Given the description of an element on the screen output the (x, y) to click on. 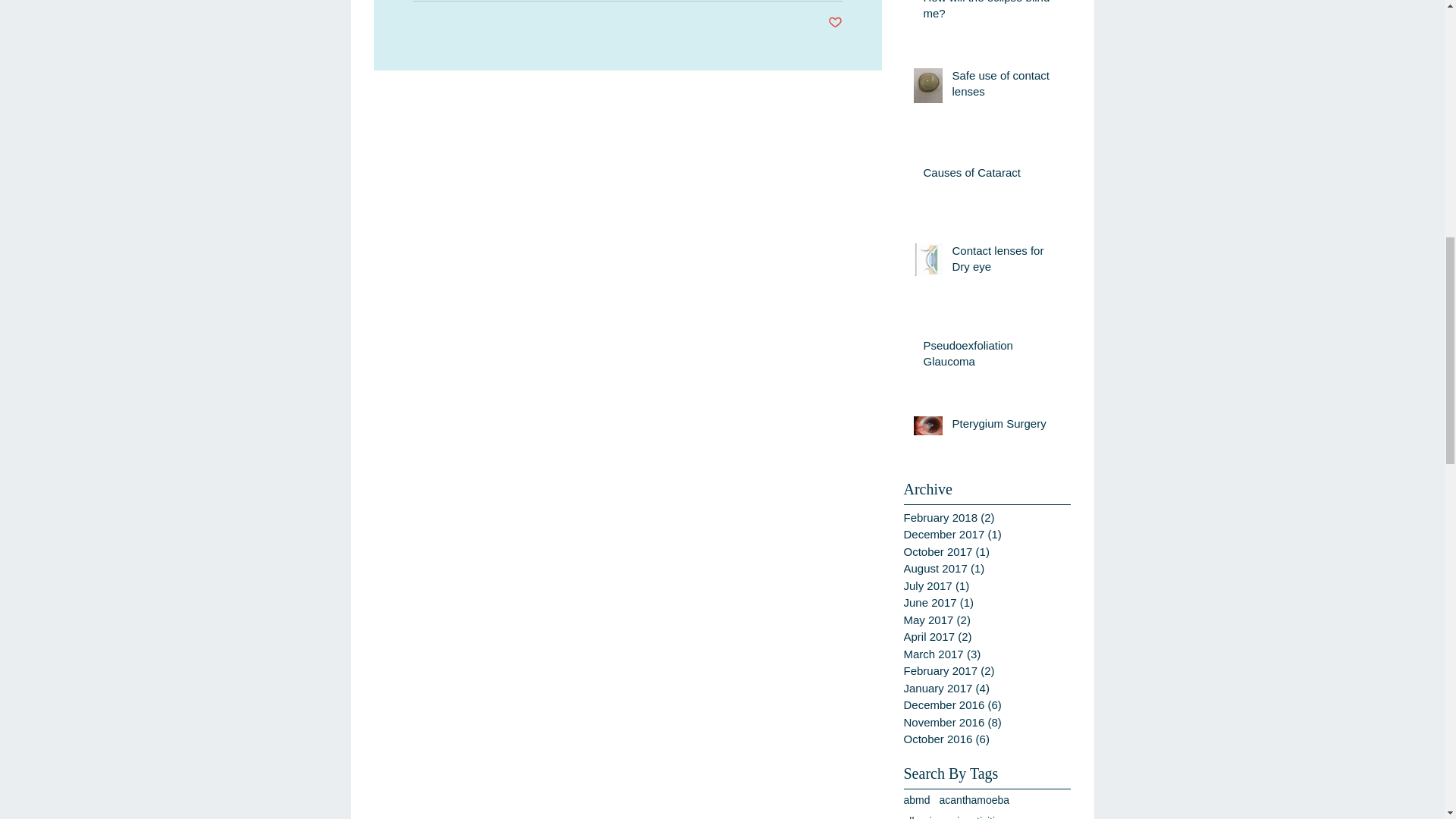
Contact lenses for Dry eye (1006, 261)
Safe use of contact lenses (1006, 86)
Pseudoexfoliation Glaucoma (992, 356)
How will the eclipse blind me? (992, 13)
Post not marked as liked (835, 23)
Causes of Cataract (992, 175)
Pterygium Surgery (1006, 426)
